Given the description of an element on the screen output the (x, y) to click on. 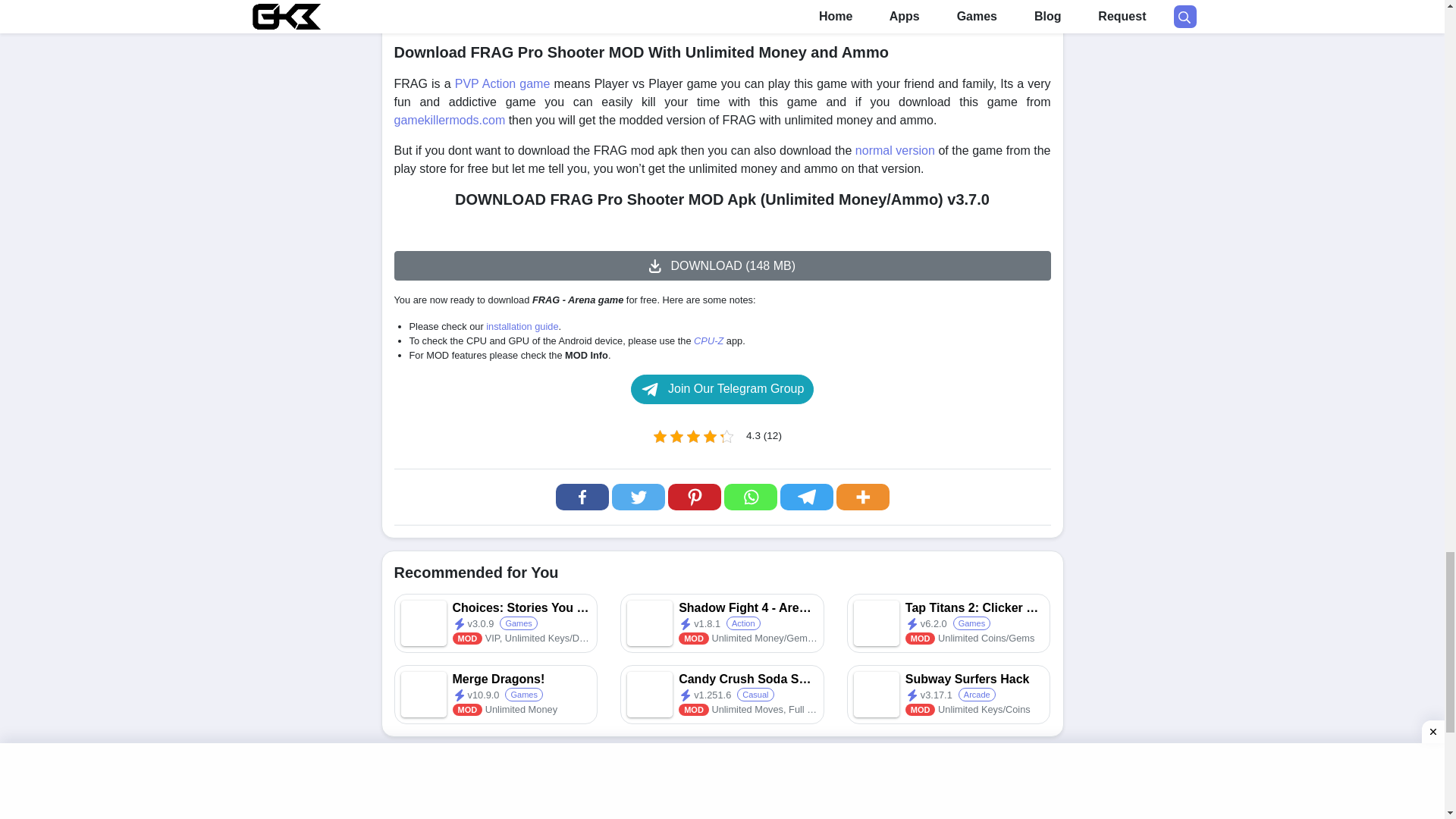
Pinterest (693, 497)
More (861, 497)
Telegram (805, 497)
Choices: Stories You Play (496, 622)
Twitter (637, 497)
Facebook (581, 497)
Whatsapp (749, 497)
